Given the description of an element on the screen output the (x, y) to click on. 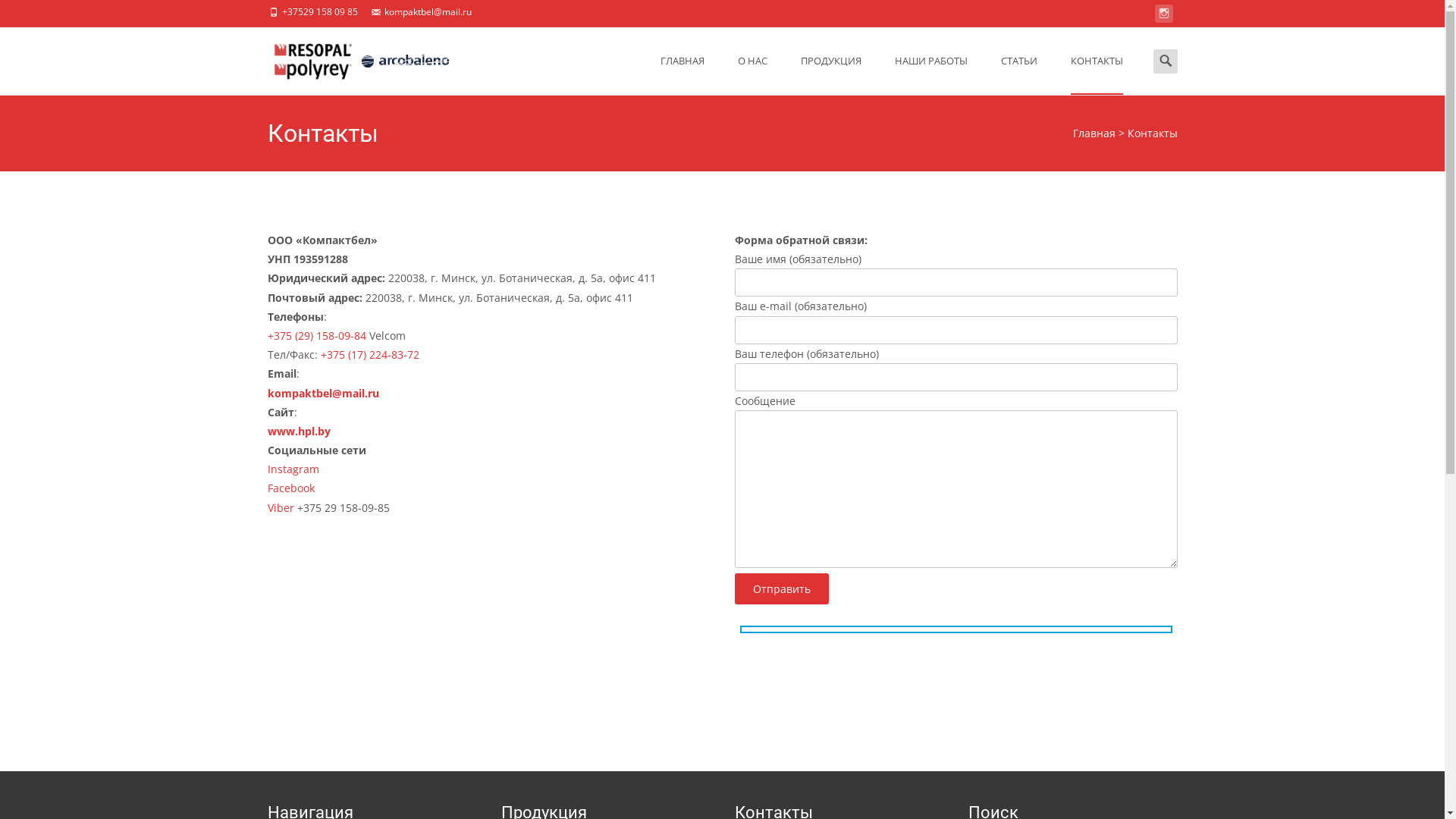
Facebook Element type: text (289, 487)
instagram Element type: hover (1163, 16)
Viber  Element type: text (281, 507)
www.hpl.by Element type: text (297, 430)
kompaktbel@mail.ru Element type: text (322, 392)
+375 (29) 158-09-84 Element type: text (315, 335)
Skip to content Element type: text (682, 36)
+375 (17) 224-83-72 Element type: text (369, 354)
Instagram Element type: text (292, 468)
kompaktbel Element type: hover (348, 57)
